Given the description of an element on the screen output the (x, y) to click on. 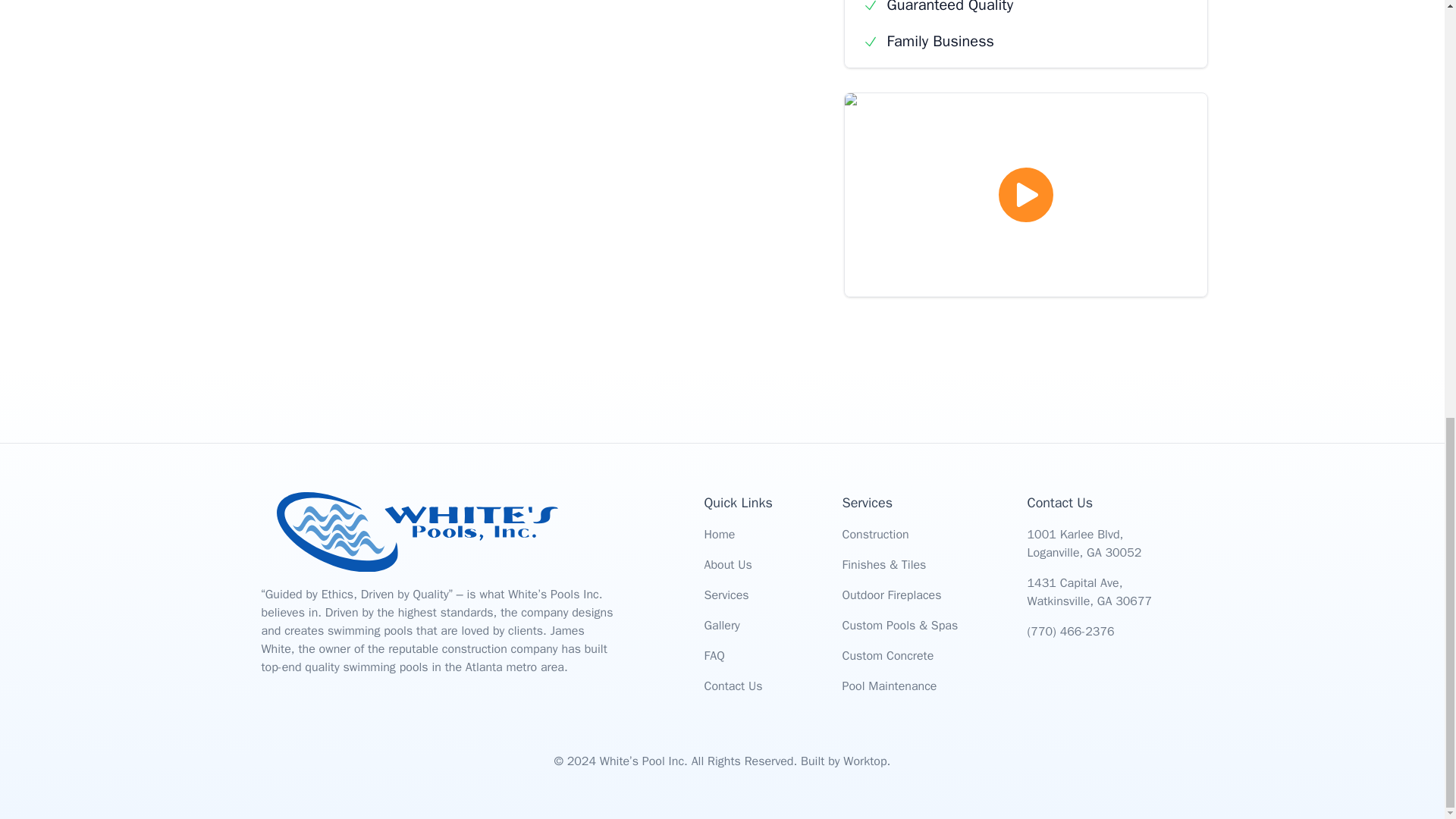
Built by Worktop. (844, 761)
Home (719, 534)
FAQ (713, 655)
Custom Concrete (887, 655)
Outdoor Fireplaces (890, 595)
Pool Maintenance (888, 685)
Construction (874, 534)
Gallery (721, 625)
About Us (727, 564)
Services (725, 595)
Contact Us (732, 685)
